Given the description of an element on the screen output the (x, y) to click on. 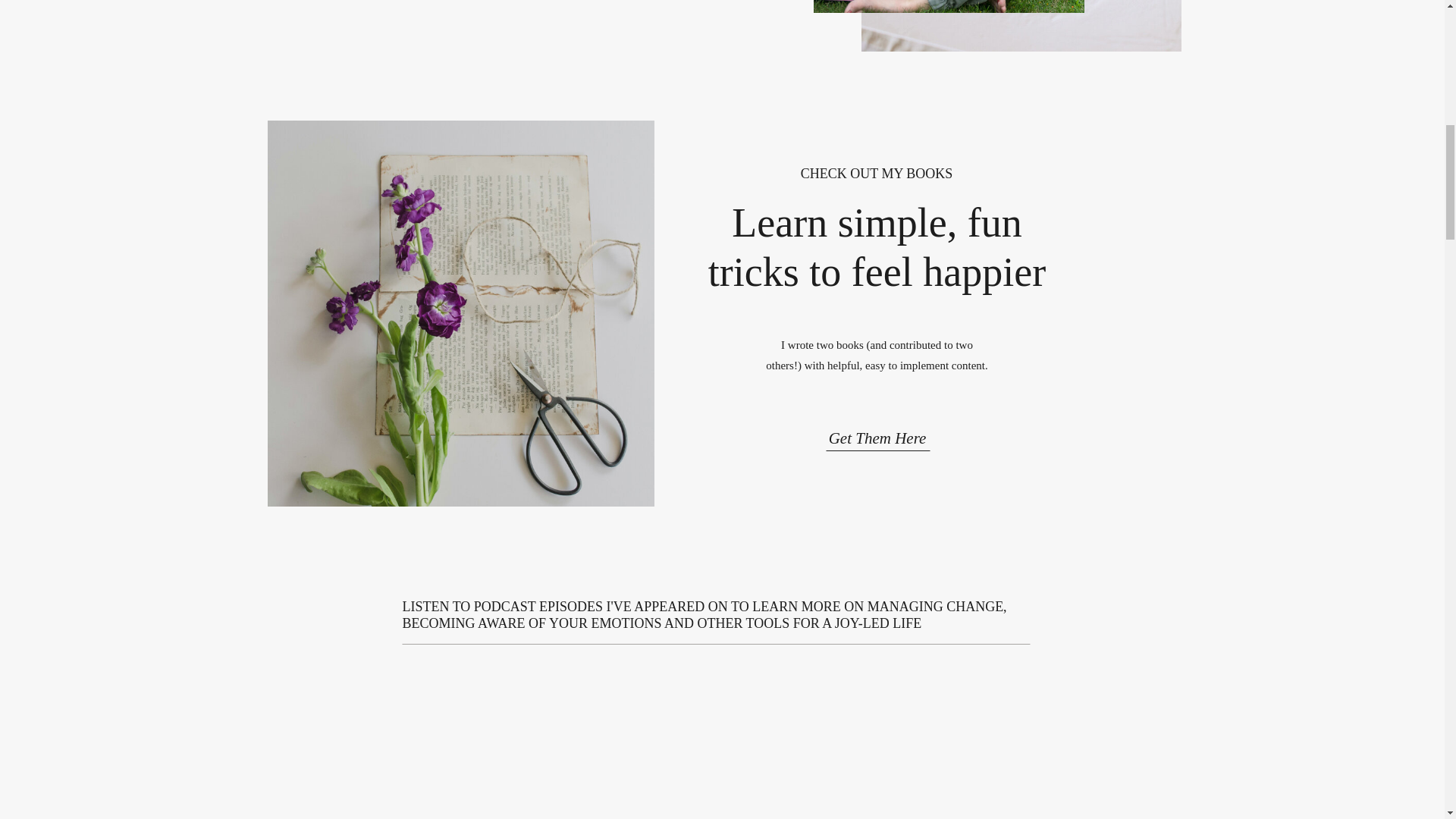
Get Them Here (877, 434)
